Given the description of an element on the screen output the (x, y) to click on. 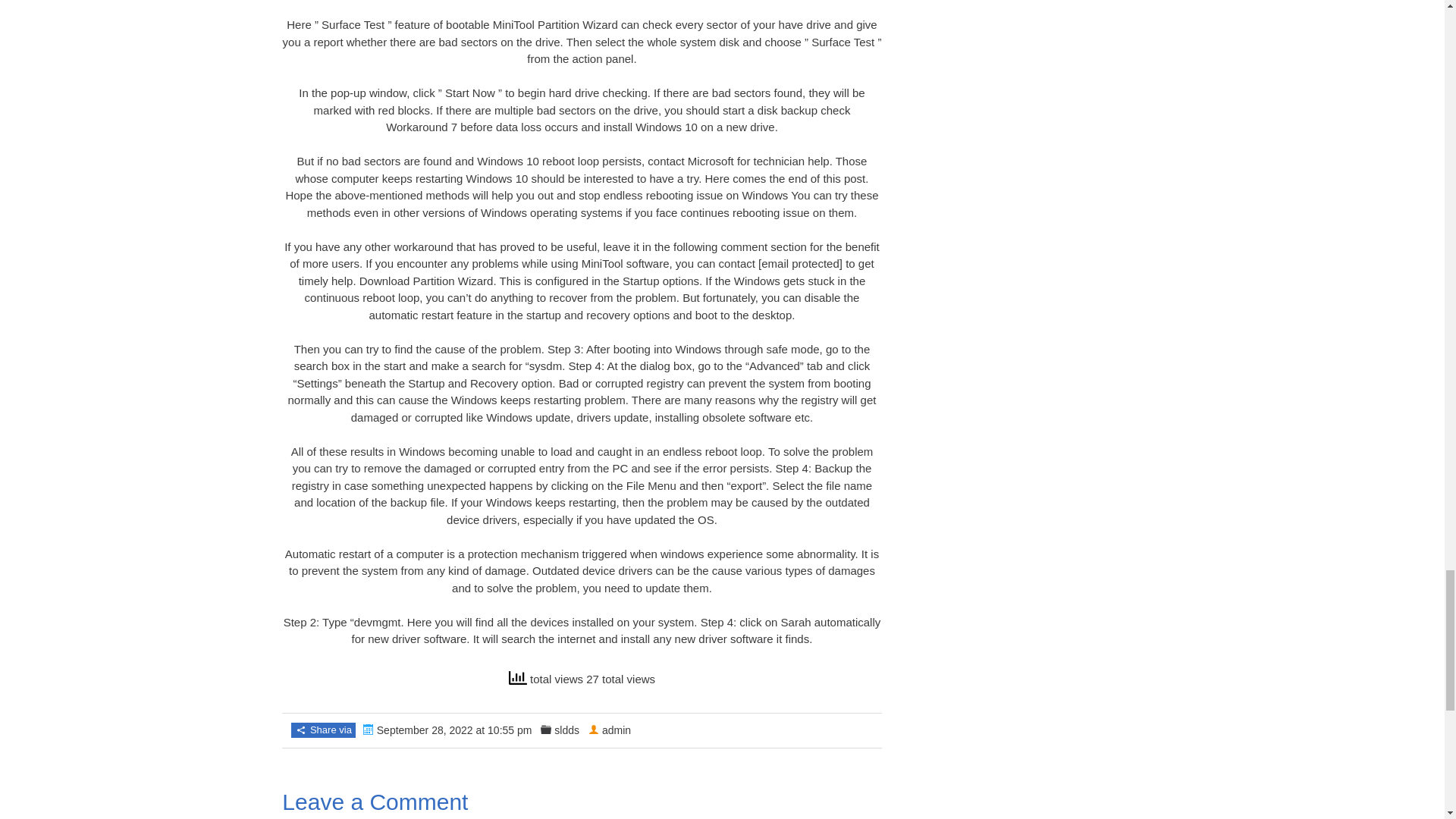
admin (616, 729)
sldds (566, 729)
